Given the description of an element on the screen output the (x, y) to click on. 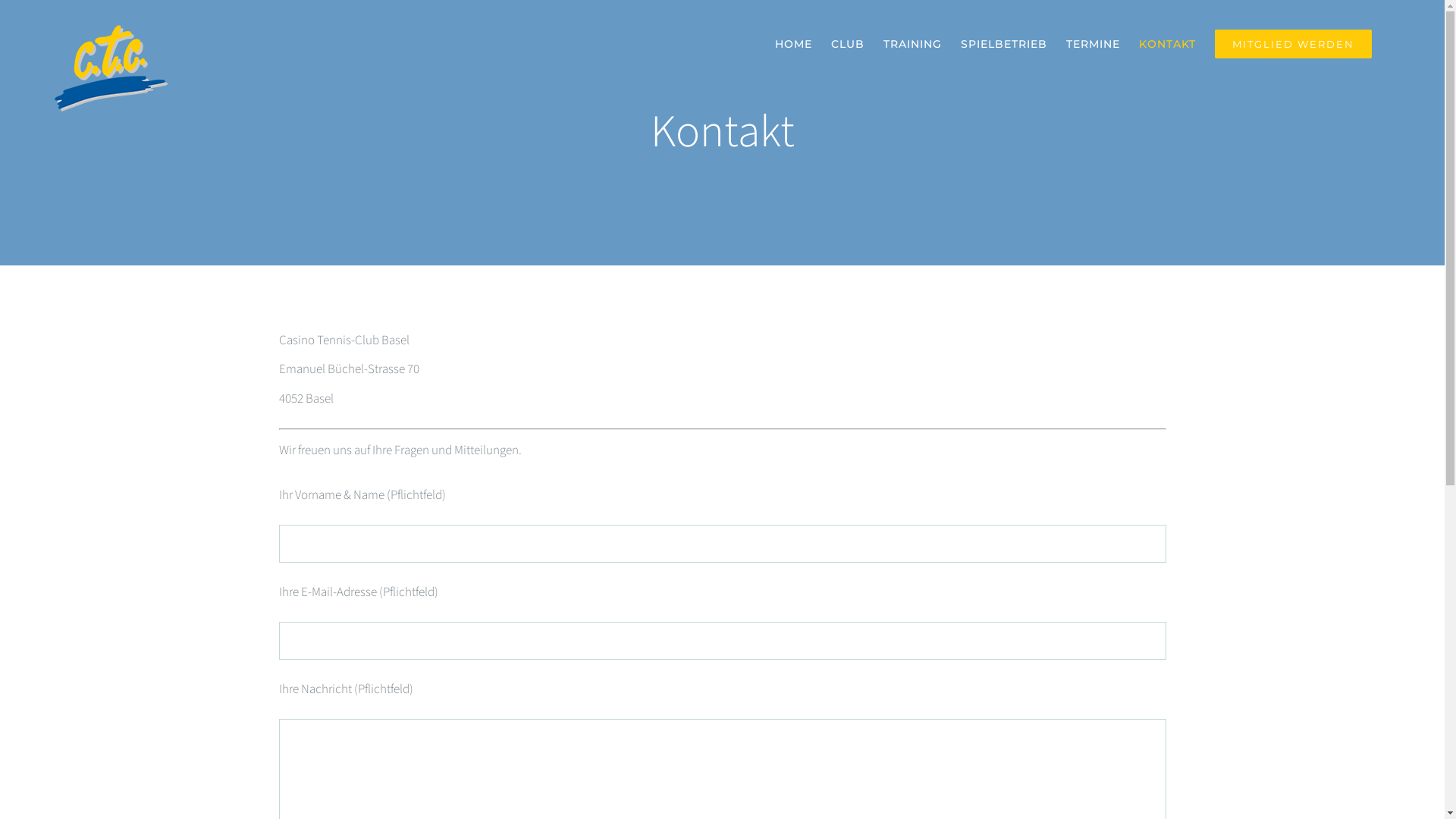
MITGLIED WERDEN Element type: text (1292, 43)
TRAINING Element type: text (912, 43)
TERMINE Element type: text (1093, 43)
HOME Element type: text (793, 43)
CLUB Element type: text (847, 43)
KONTAKT Element type: text (1167, 43)
SPIELBETRIEB Element type: text (1003, 43)
